Given the description of an element on the screen output the (x, y) to click on. 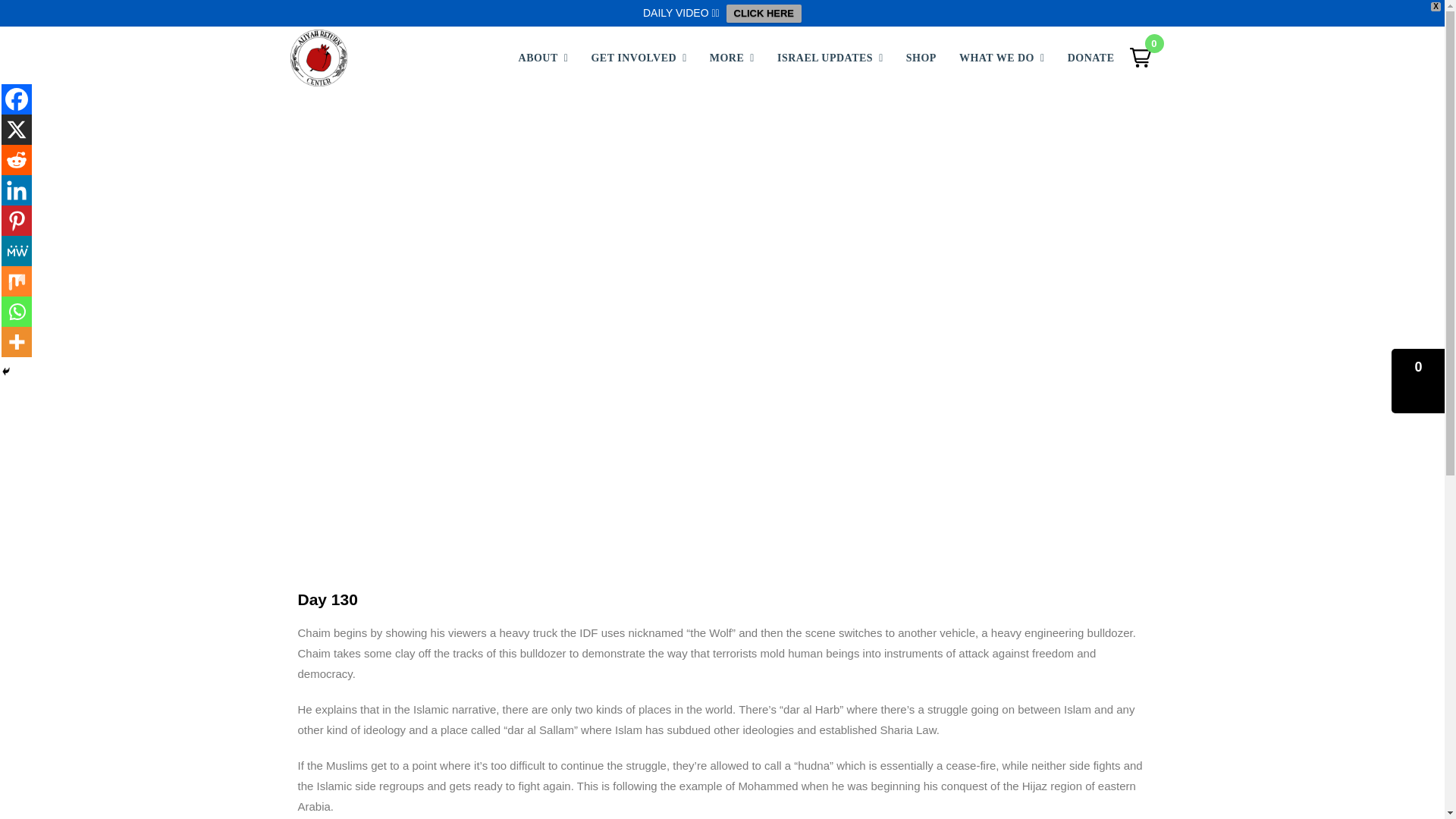
Reddit (16, 159)
X (16, 129)
MORE (731, 58)
Facebook (16, 99)
ISRAEL UPDATES (830, 58)
GET INVOLVED (638, 58)
Linkedin (16, 190)
CLICK HERE (764, 13)
ABOUT (548, 58)
